Given the description of an element on the screen output the (x, y) to click on. 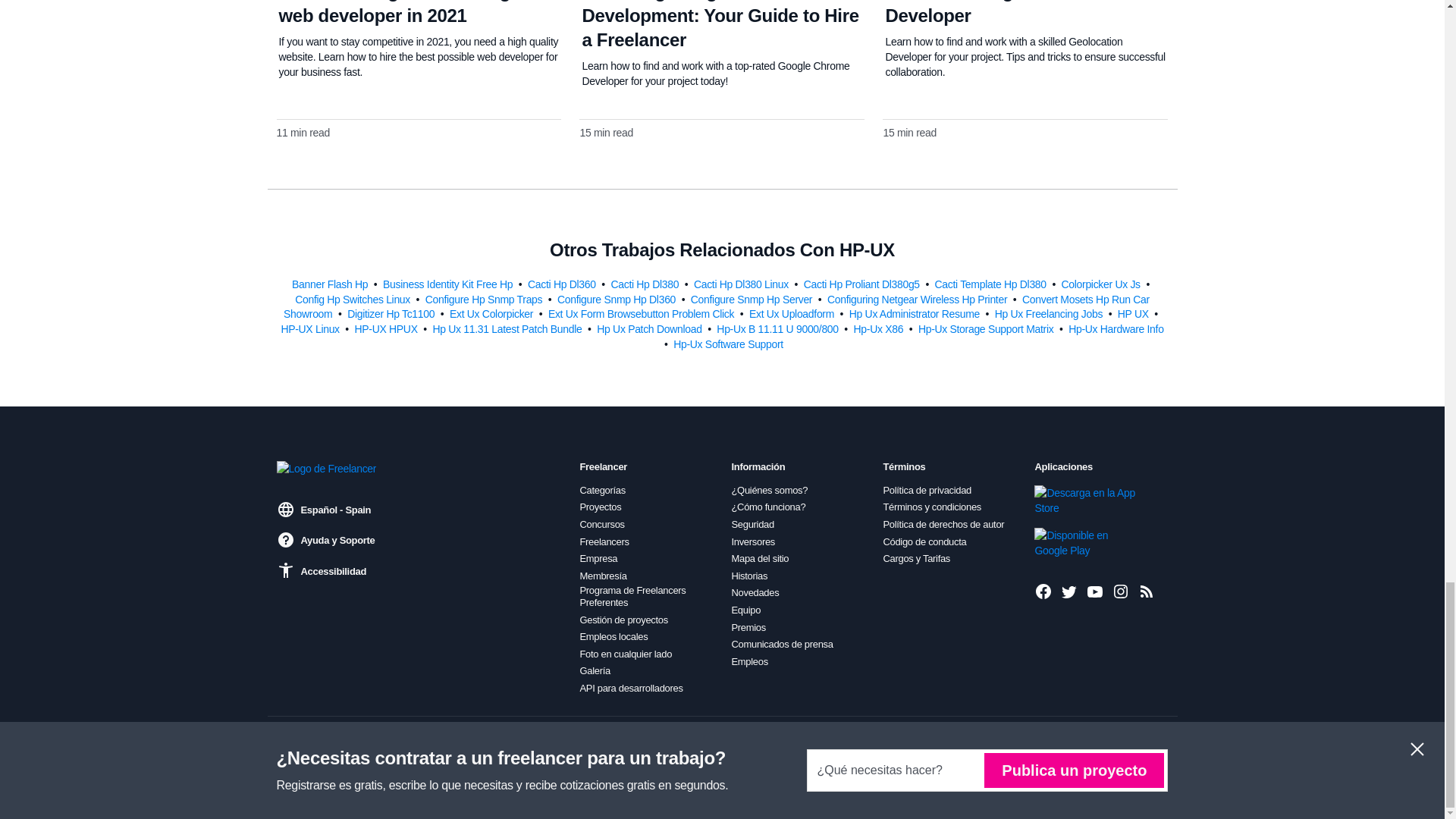
Cacti Hp Dl360 (562, 284)
Business Identity Kit Free Hp (448, 284)
Cacti Hp Dl380 (645, 284)
Cacti Hp Proliant Dl380g5 (863, 284)
The ultimate guide to hiring a web developer in 2021 (402, 12)
Guide to Hiring a Geolocation Developer (1009, 12)
Descarga en la App Store (1085, 500)
Cacti Hp Dl380 Linux (743, 284)
Banner Flash Hp (331, 284)
